Given the description of an element on the screen output the (x, y) to click on. 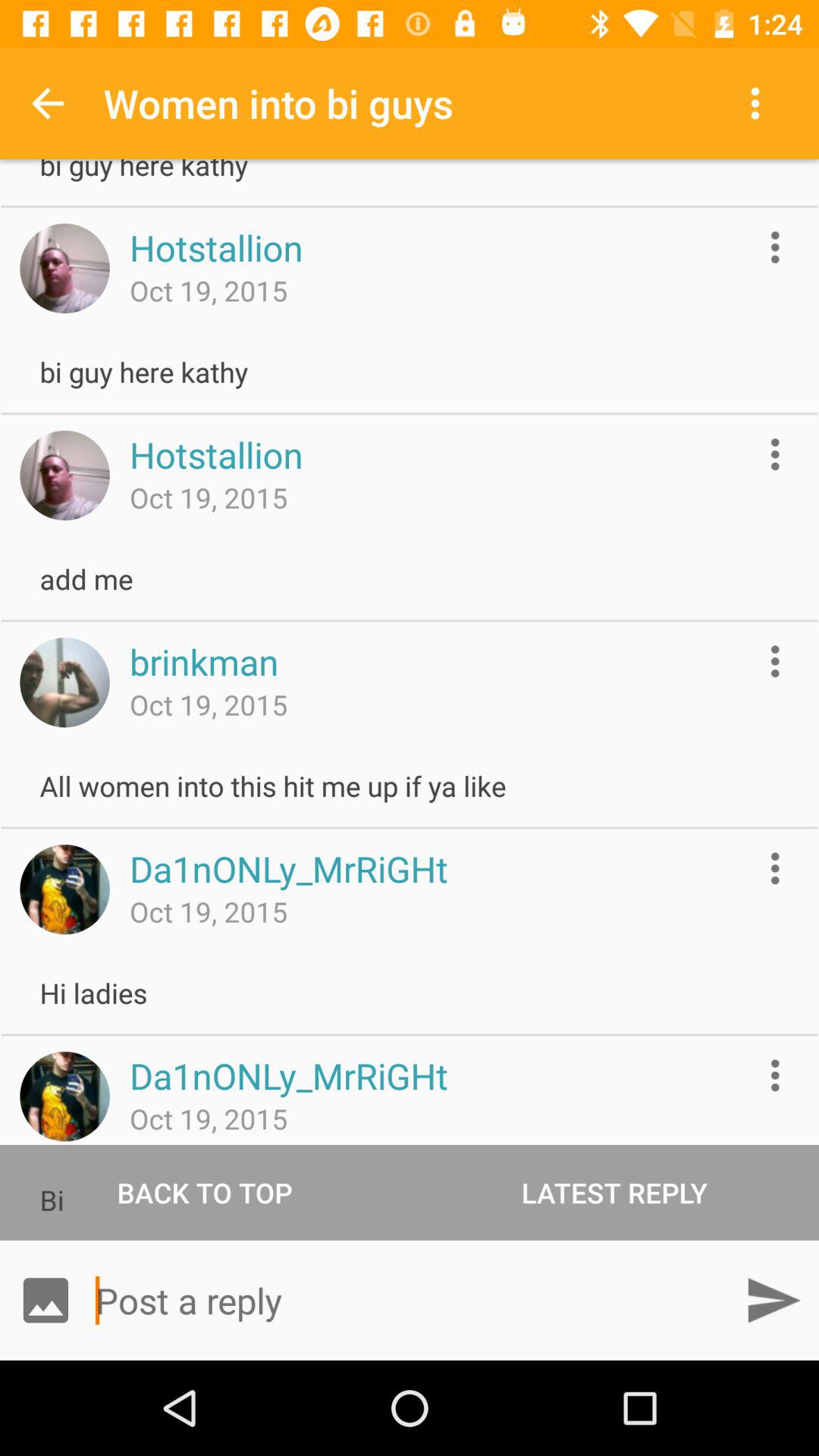
more options (775, 868)
